Given the description of an element on the screen output the (x, y) to click on. 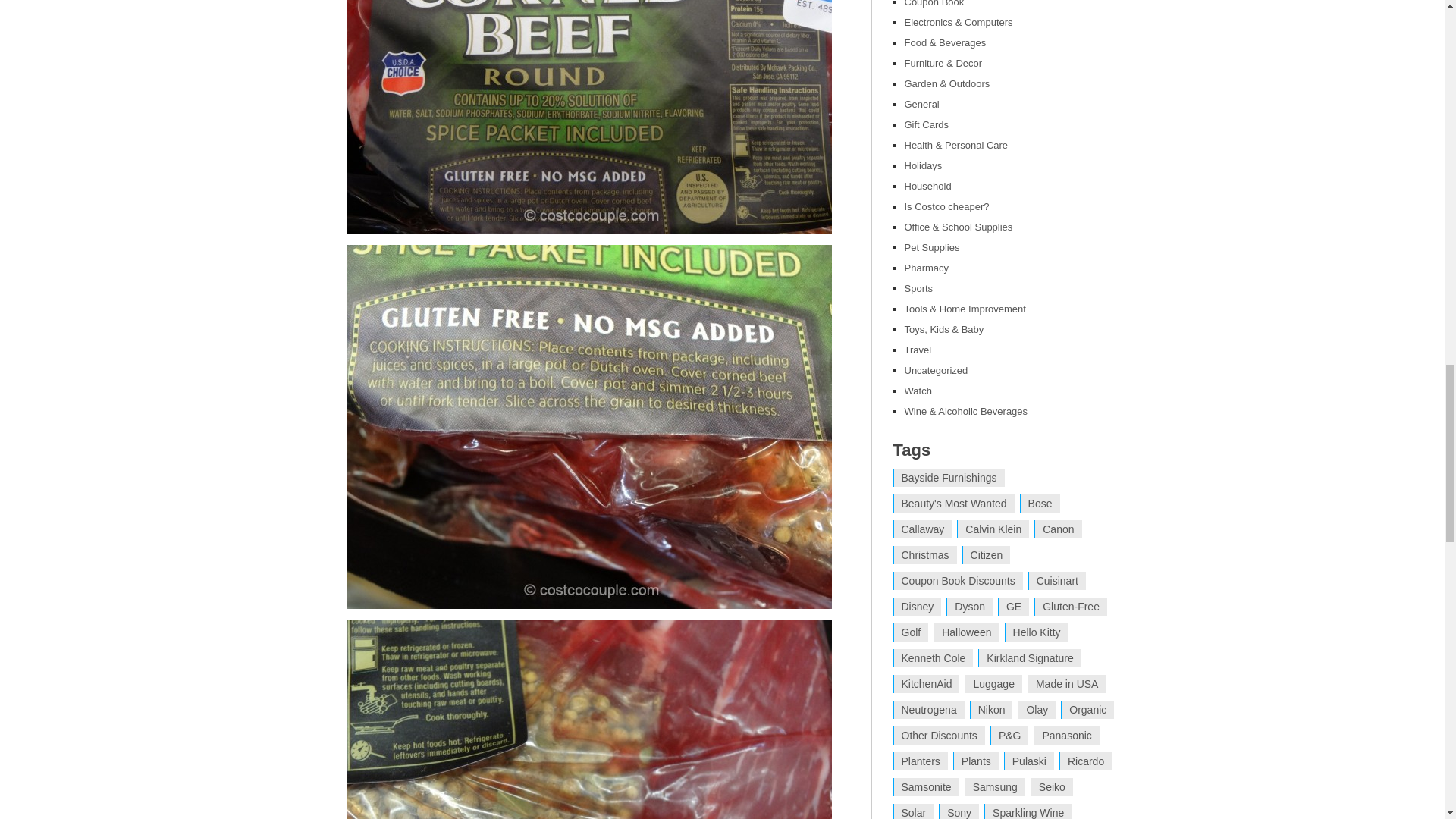
Shenson Corned Beef Round Costco (588, 117)
Shenson Corned Beef Round Costco (588, 719)
